Given the description of an element on the screen output the (x, y) to click on. 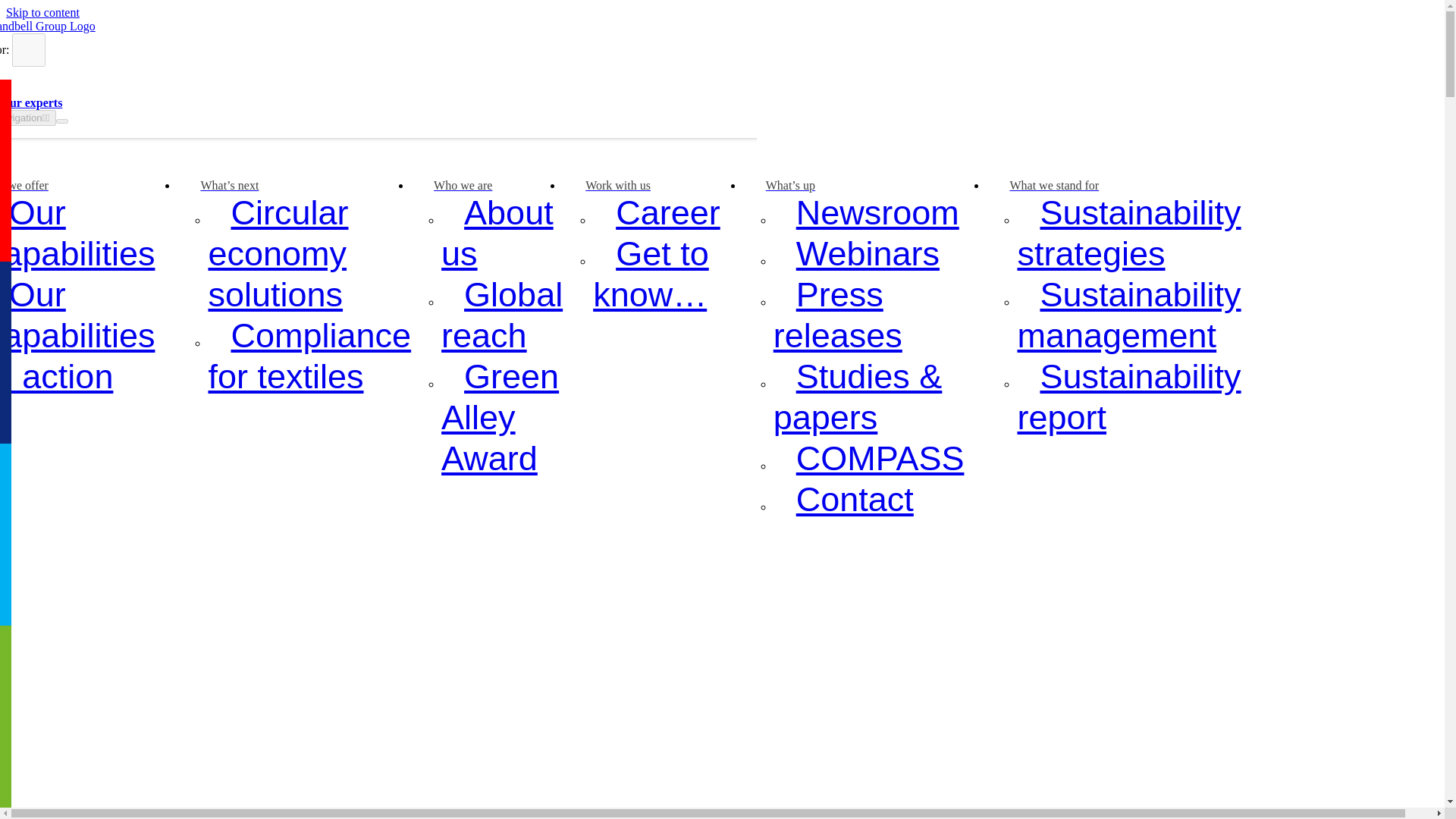
Skip to content (42, 11)
Webinars (867, 253)
COMPASS (880, 457)
Green Alley Award (500, 417)
Circular economy solutions (286, 253)
Compliance for textiles (309, 355)
What we offer (35, 185)
About us (497, 232)
Sustainability strategies (1128, 232)
Speak to our experts (31, 102)
Our capabilities in action (77, 335)
Press releases (848, 314)
Sustainability management (1128, 314)
Newsroom (877, 212)
Toggle Navigation (28, 117)
